Given the description of an element on the screen output the (x, y) to click on. 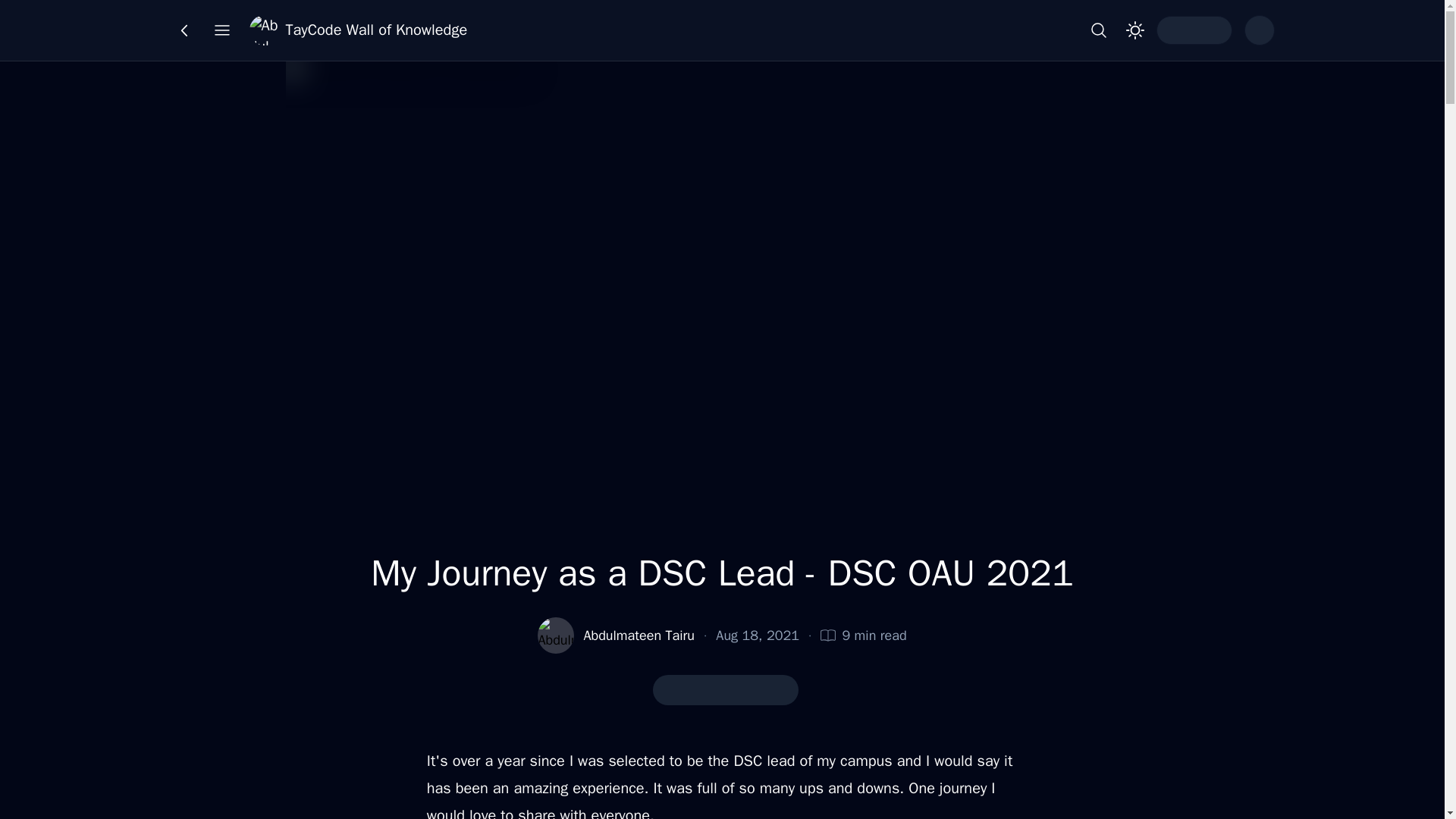
Abdulmateen Tairu (638, 635)
TayCode Wall of Knowledge (357, 30)
Aug 18, 2021 (757, 635)
